Given the description of an element on the screen output the (x, y) to click on. 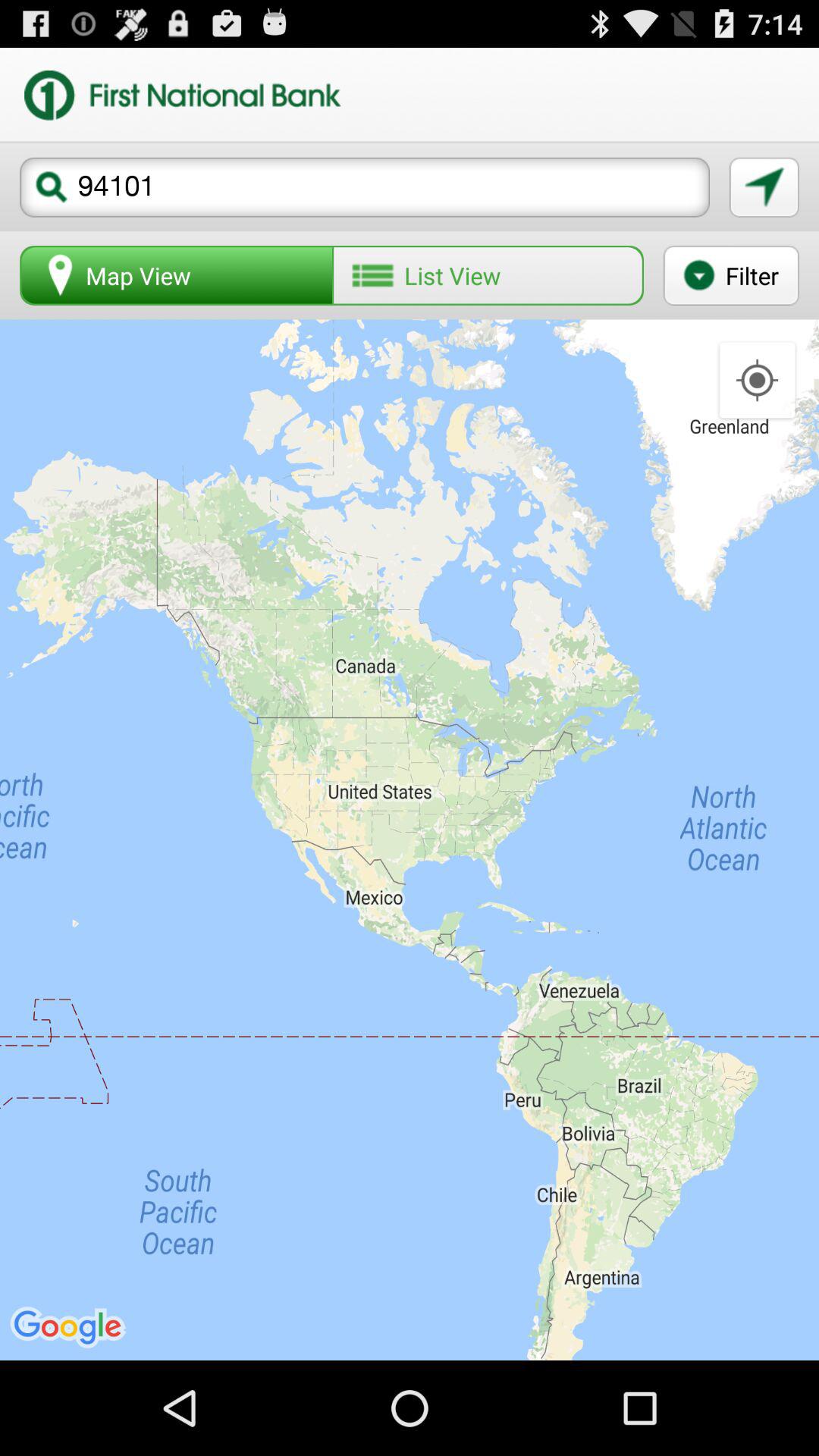
choose icon below 94101 icon (176, 275)
